Given the description of an element on the screen output the (x, y) to click on. 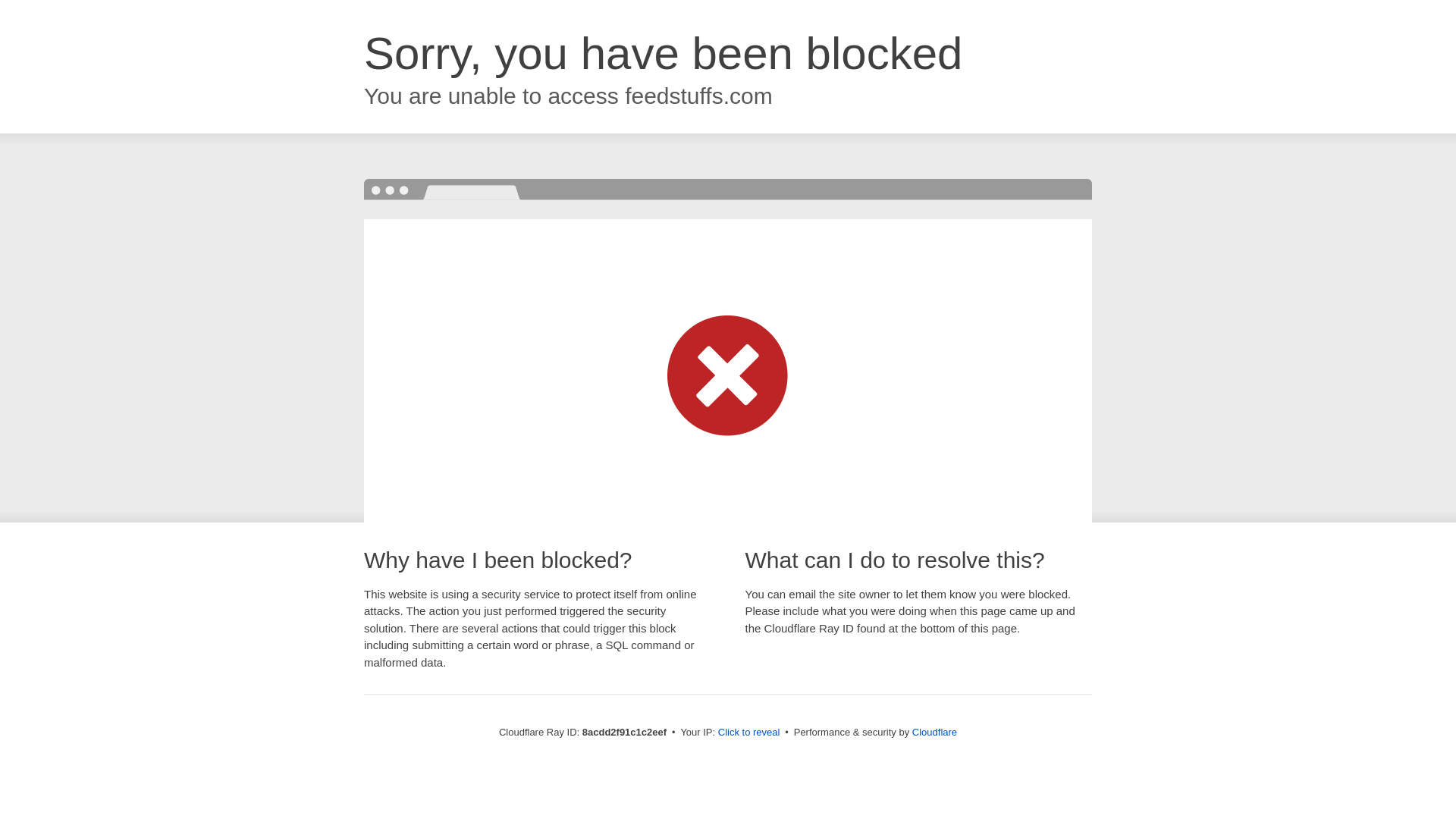
Click to reveal (748, 732)
Cloudflare (934, 731)
